Given the description of an element on the screen output the (x, y) to click on. 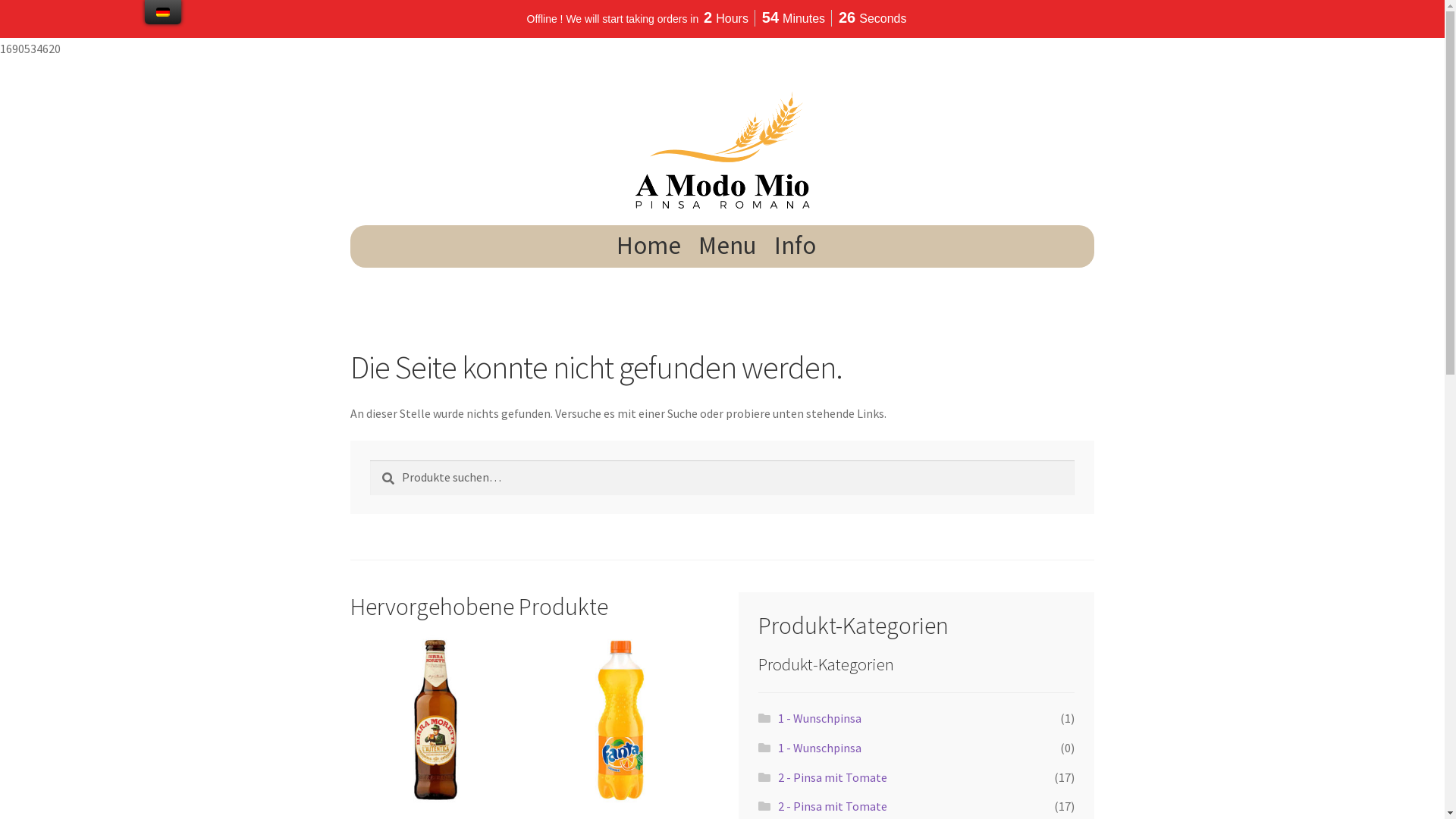
Home Element type: text (648, 245)
Menu Element type: text (727, 245)
1 - Wunschpinsa Element type: text (819, 717)
Info Element type: text (794, 245)
2 - Pinsa mit Tomate Element type: text (832, 776)
Suche Element type: text (369, 459)
German Element type: hover (162, 11)
2 - Pinsa mit Tomate Element type: text (832, 805)
1 - Wunschpinsa Element type: text (819, 747)
Zur Navigation springen Element type: text (349, 89)
